Given the description of an element on the screen output the (x, y) to click on. 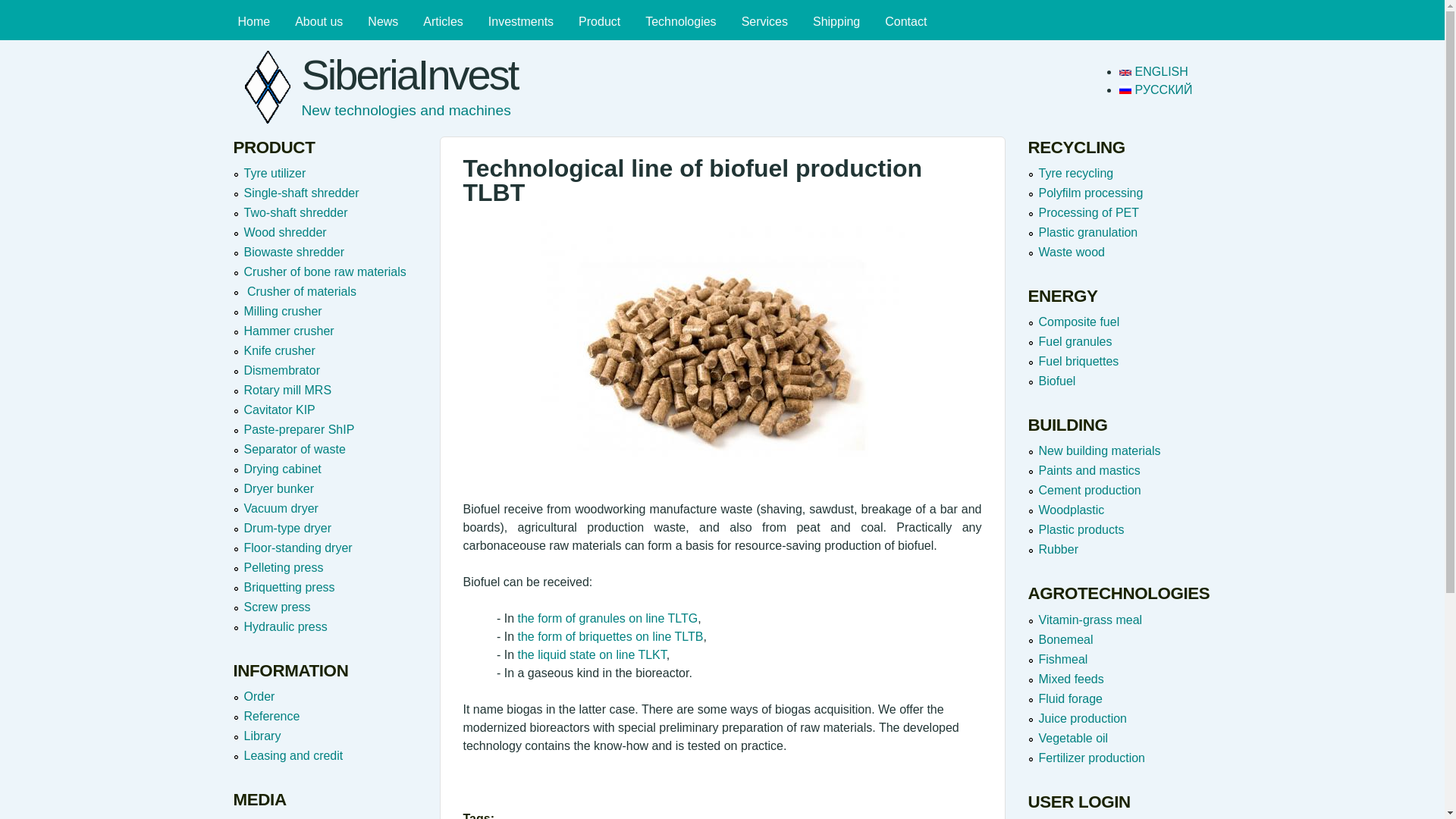
the form of granules on line TLTG (608, 617)
Separator of waste (295, 449)
Technological line of biofuel production TLBT (1153, 71)
Crusher of materials (300, 291)
Rotary mill MRS (287, 390)
New technologies (680, 22)
Dismembrator (282, 369)
About us (318, 22)
Tyre utilizer (274, 173)
Two-shaft shredder (295, 212)
Crusher of bone raw materials (325, 271)
SiberiaInvest (409, 74)
Single-shaft shredder (301, 192)
Drying cabinet (282, 468)
Milling crusher (282, 310)
